Given the description of an element on the screen output the (x, y) to click on. 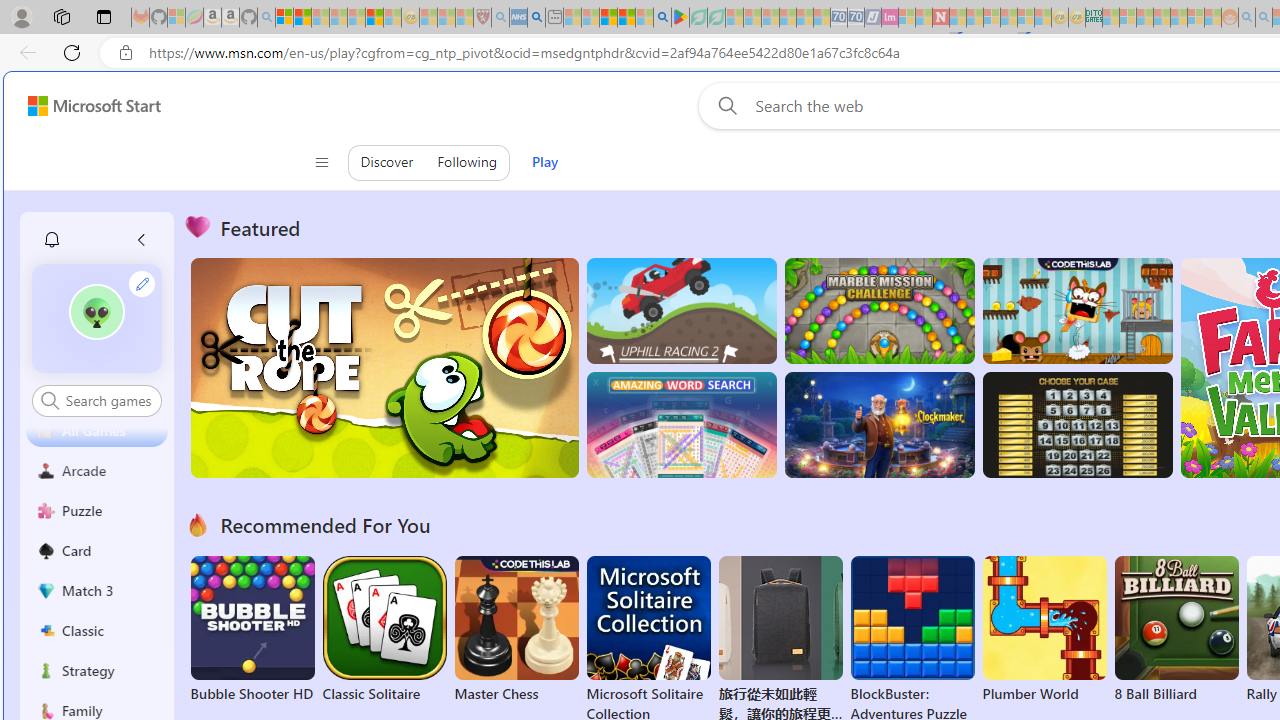
utah sues federal government - Search (536, 17)
Squicky (1076, 310)
